Given the description of an element on the screen output the (x, y) to click on. 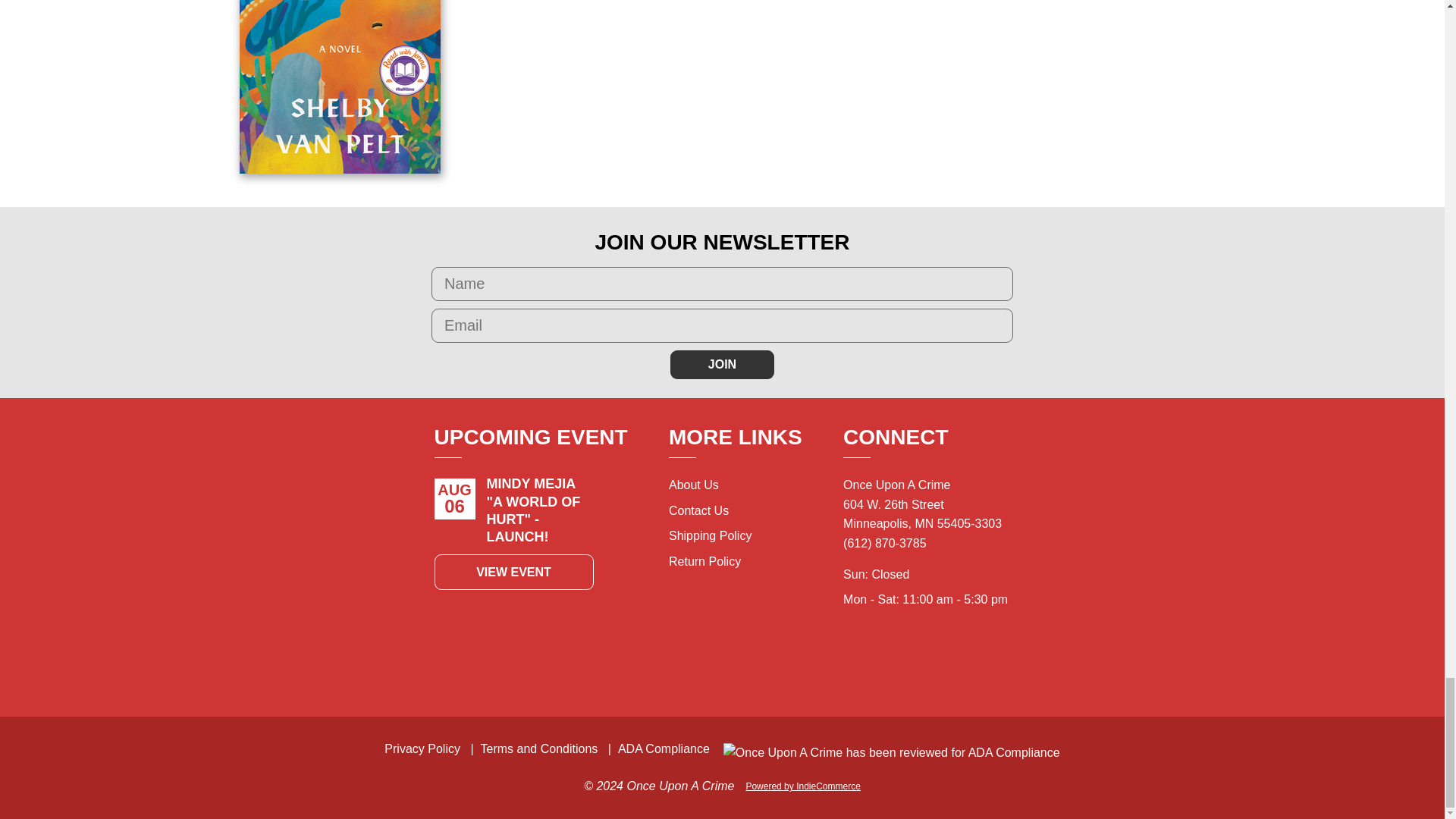
Connect with Facebook (909, 663)
Join (721, 364)
Connect with Instagram (943, 663)
Join (721, 364)
